Given the description of an element on the screen output the (x, y) to click on. 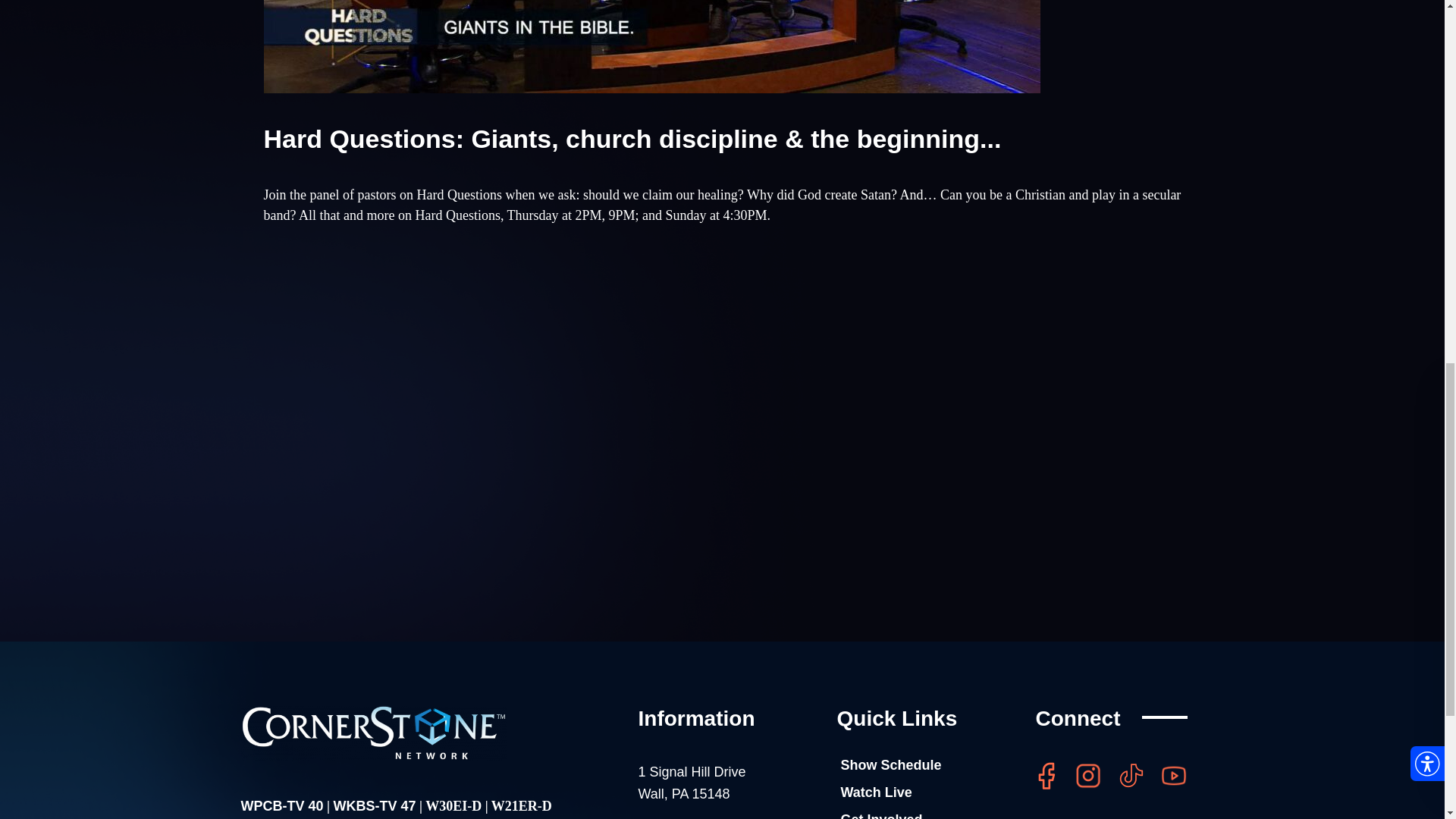
HQ15245 (652, 46)
WKBS-TV 47 (373, 806)
cornerstone-network-3d-logo-white-1-1-e1656090245841.png (692, 782)
YouTube video player (373, 732)
WPCB-TV 40 (475, 386)
